Given the description of an element on the screen output the (x, y) to click on. 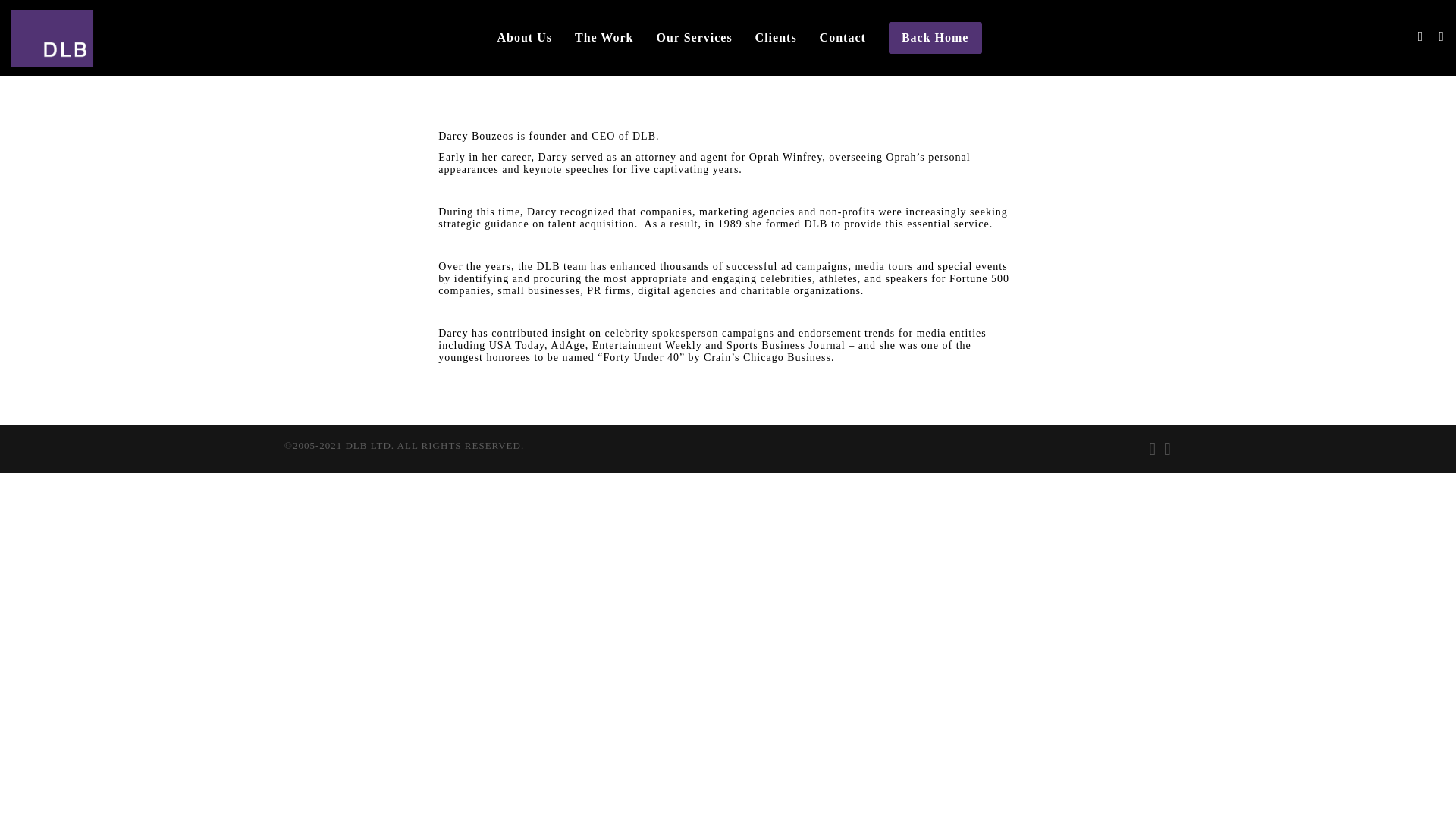
Contact (842, 38)
Back Home (934, 38)
The Work (604, 38)
About Us (523, 38)
Our Services (693, 38)
DLB: Celebrity, Athlete and Procurement (81, 37)
